Given the description of an element on the screen output the (x, y) to click on. 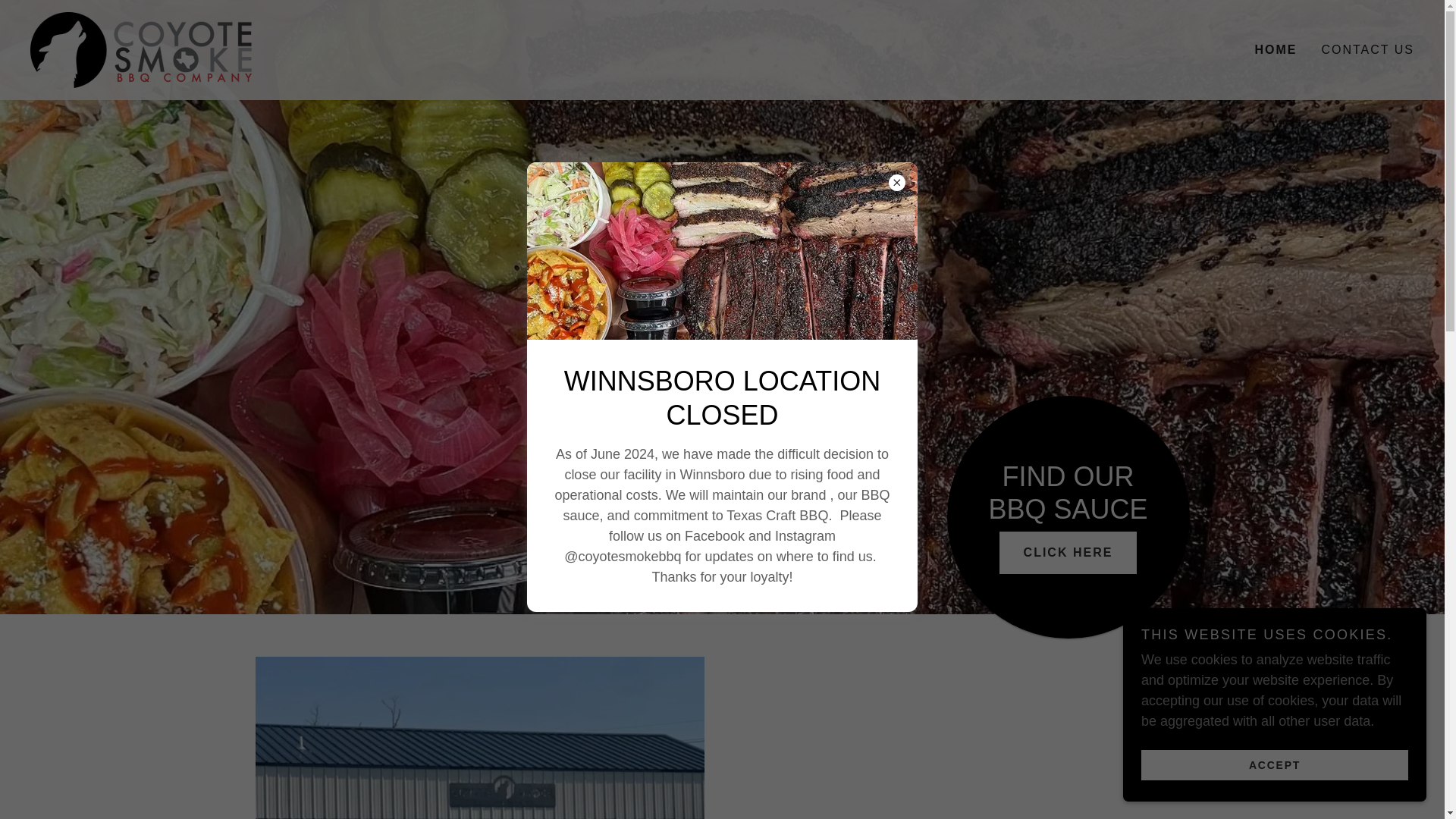
HOME (1275, 49)
Coyote Smoke BBQ Company (140, 48)
ACCEPT (1274, 764)
CLICK HERE (1067, 552)
CONTACT US (1367, 49)
